Given the description of an element on the screen output the (x, y) to click on. 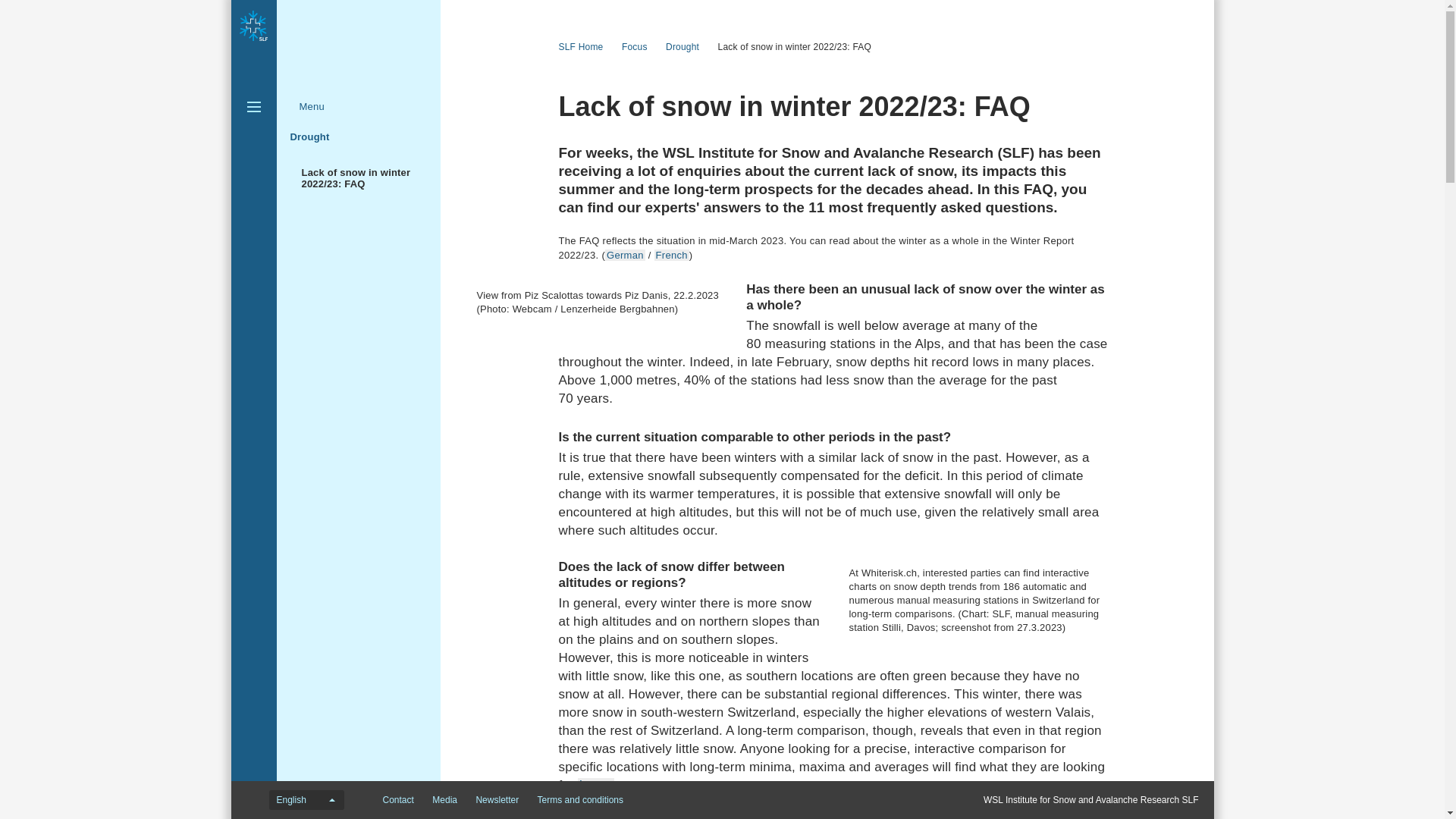
French (670, 255)
Drought (687, 47)
Linkedin (808, 799)
Menu (309, 106)
here (596, 785)
Focus (433, 132)
Menu (309, 106)
Drought (309, 136)
Toggle (253, 106)
Search (253, 136)
Focus (640, 47)
Instagram (771, 799)
Change language (305, 799)
Search (253, 136)
Youtube (670, 799)
